Given the description of an element on the screen output the (x, y) to click on. 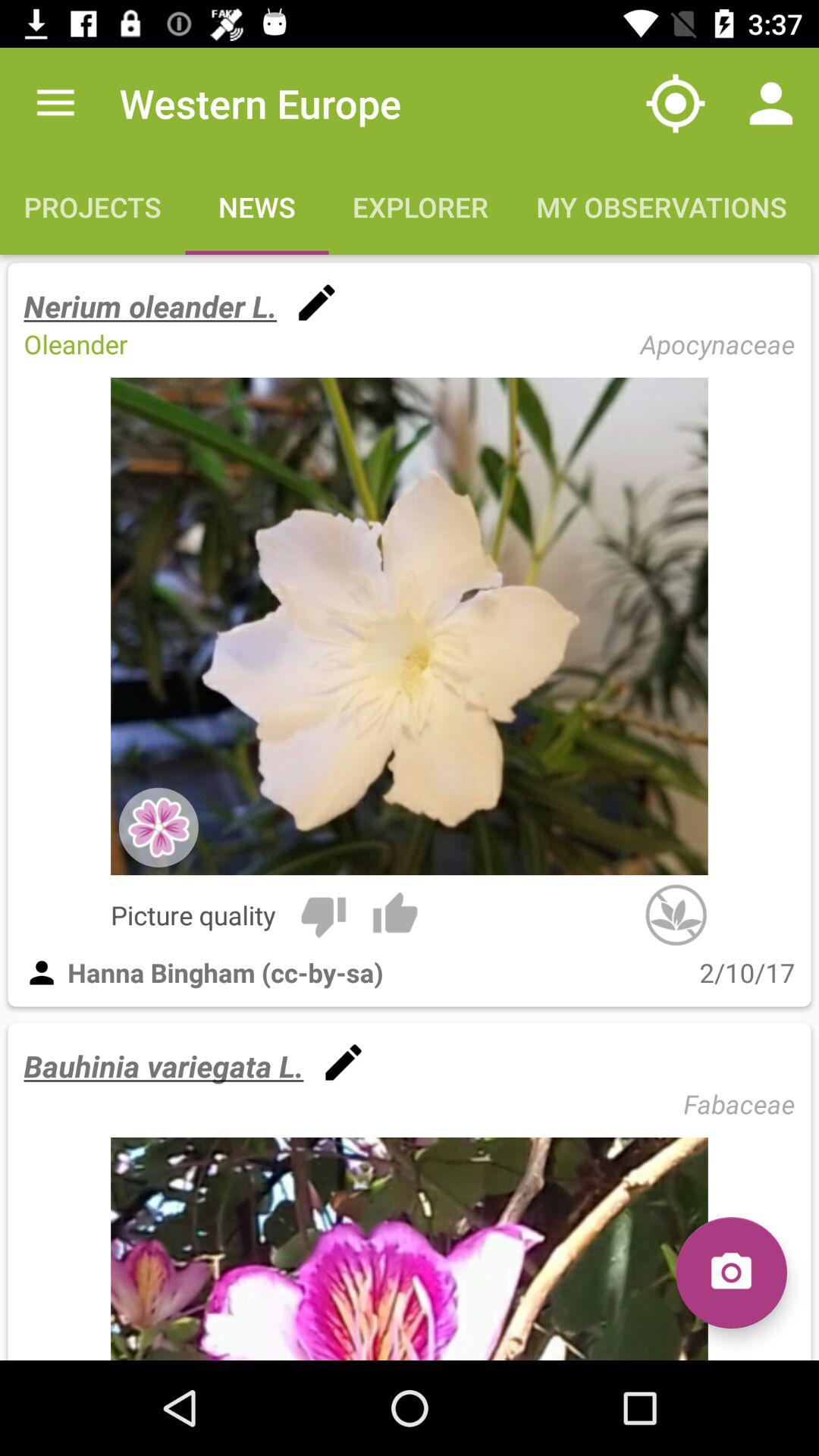
select the icon next to the western europe app (55, 103)
